Given the description of an element on the screen output the (x, y) to click on. 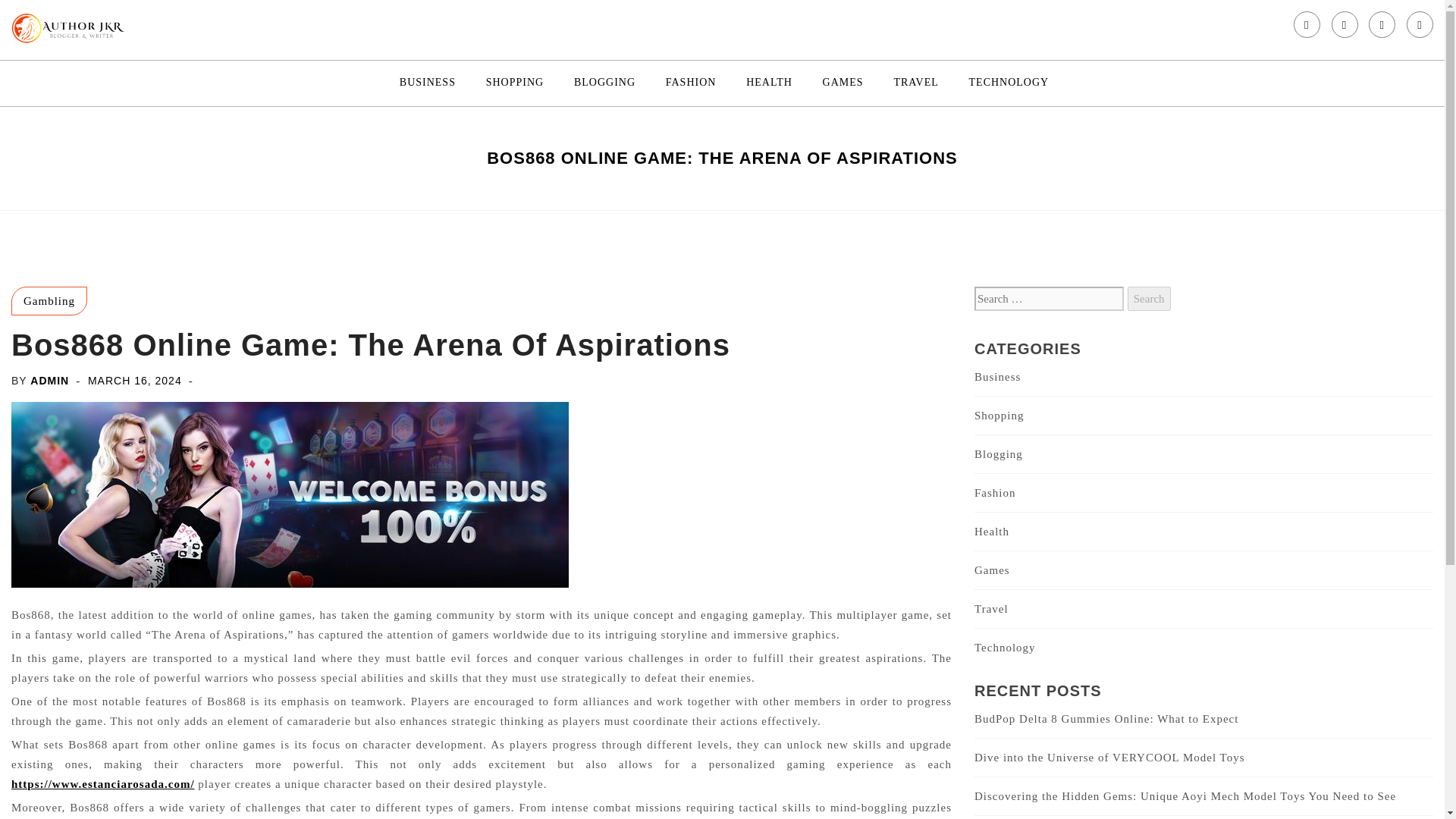
Search (1148, 298)
BLOGGING (604, 83)
Fashion (995, 492)
Shopping (999, 415)
Search (1148, 298)
MARCH 16, 2024 (134, 380)
GAMES (842, 83)
Gambling (49, 300)
SHOPPING (514, 83)
ADMIN (49, 380)
Business (997, 377)
TECHNOLOGY (1009, 83)
Games (992, 570)
Travel (991, 608)
FASHION (690, 83)
